Given the description of an element on the screen output the (x, y) to click on. 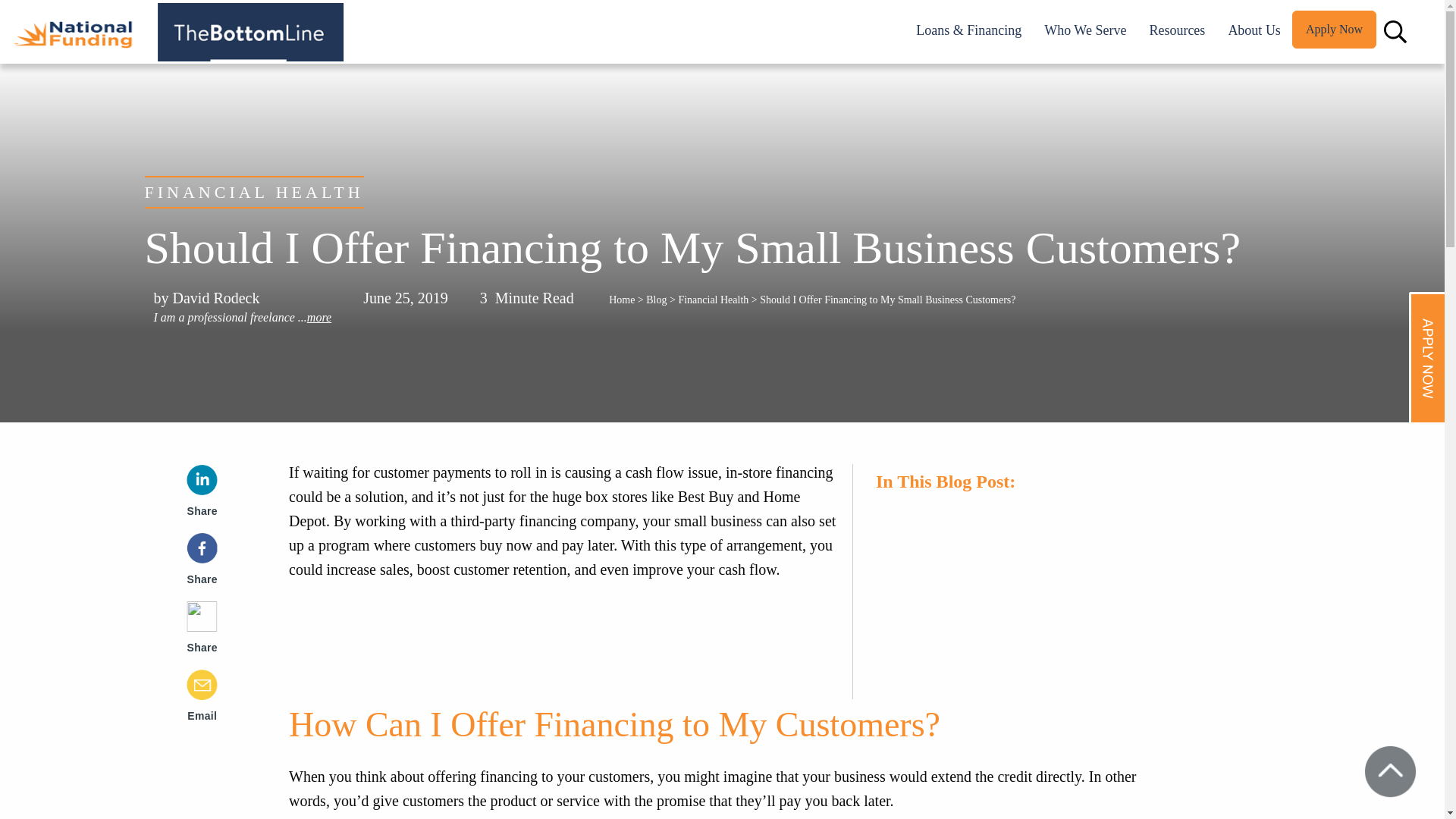
Resources (1176, 30)
Posts by David Rodeck (216, 297)
Who We Serve (1084, 30)
About Us (1254, 30)
